Given the description of an element on the screen output the (x, y) to click on. 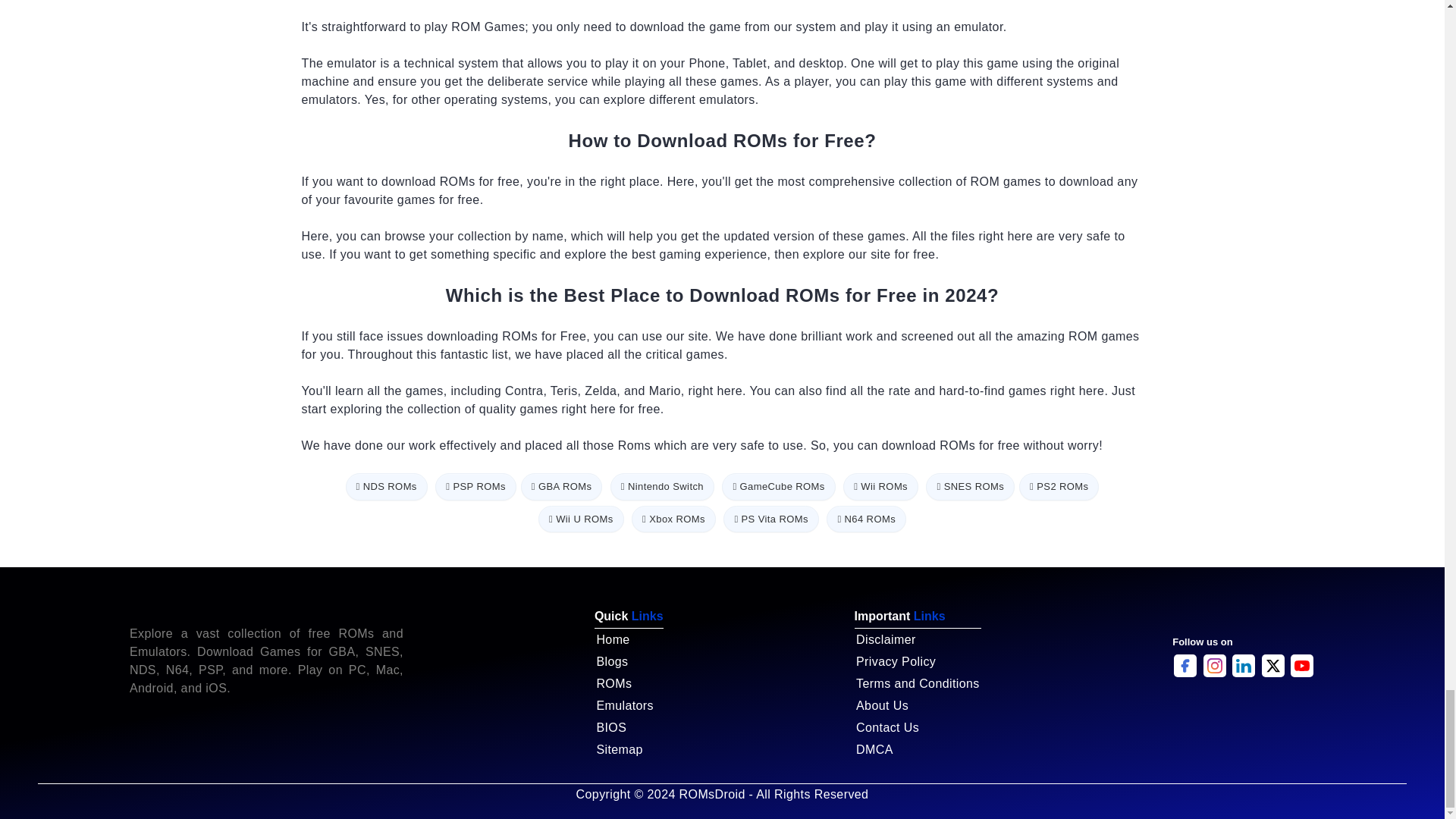
DMCA.com Protection Status (1243, 714)
